Given the description of an element on the screen output the (x, y) to click on. 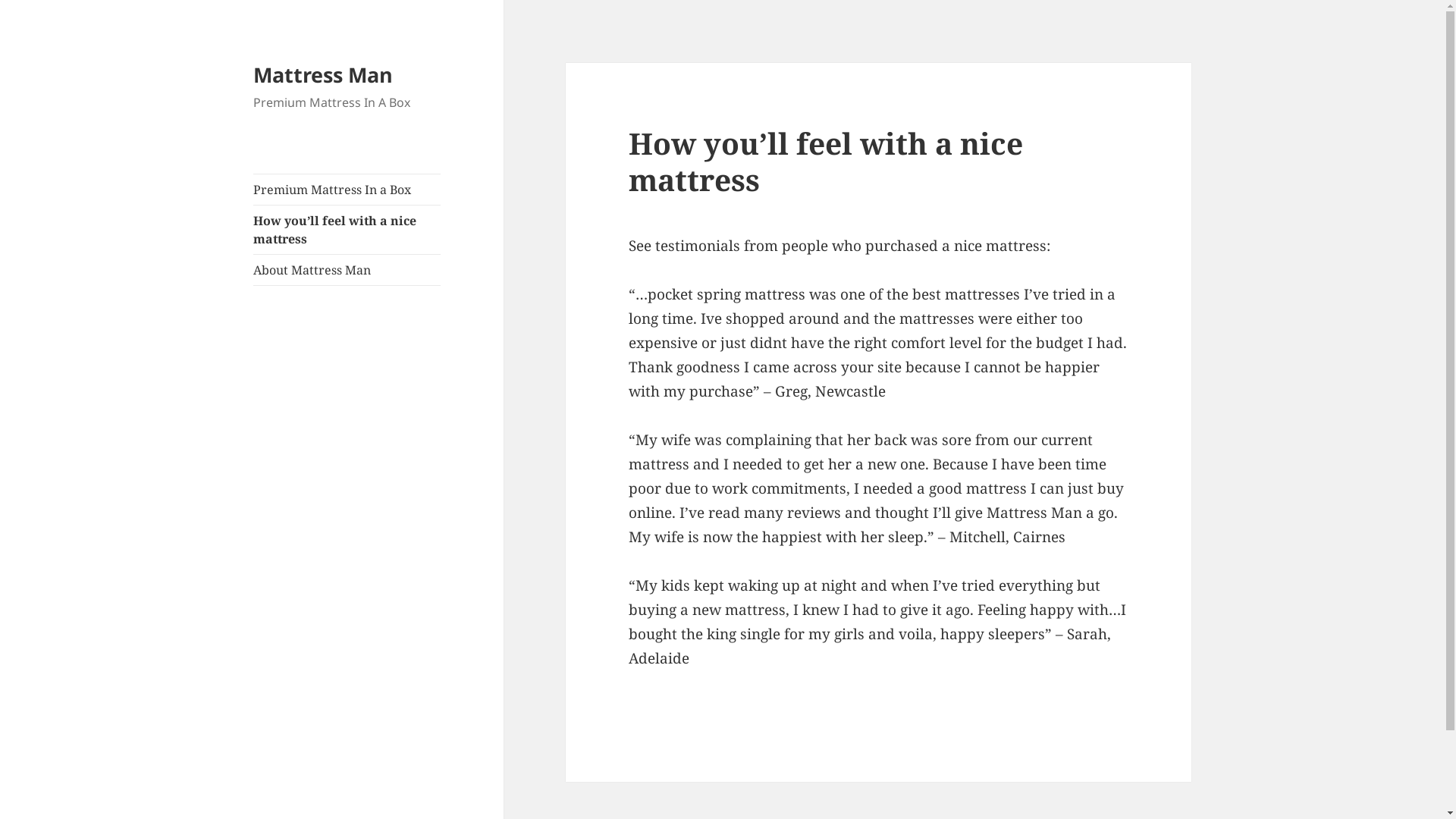
Mattress Man Element type: text (322, 74)
About Mattress Man Element type: text (347, 269)
Premium Mattress In a Box Element type: text (347, 189)
